Given the description of an element on the screen output the (x, y) to click on. 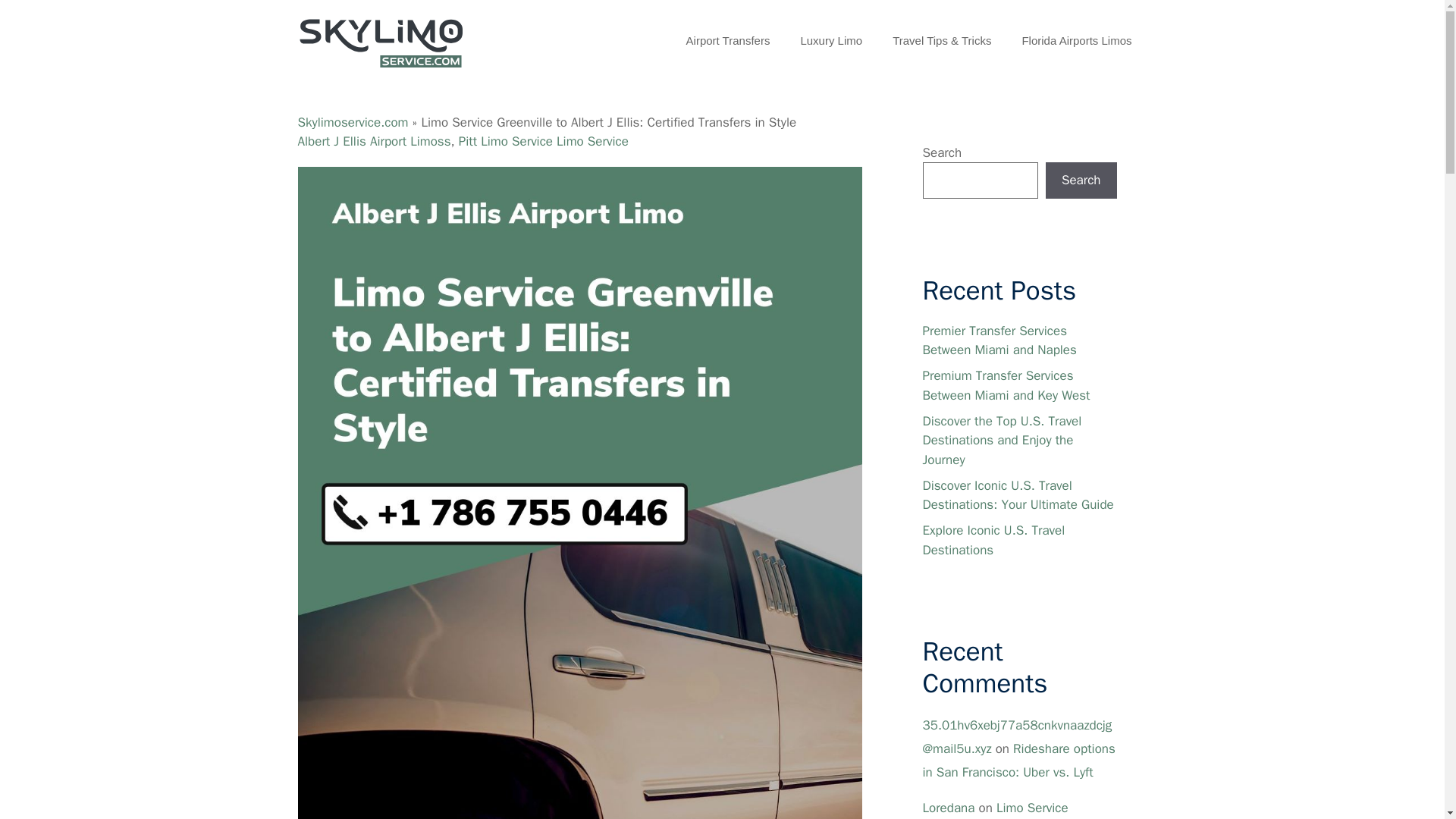
Albert J Ellis Airport Limoss (373, 141)
Explore Iconic U.S. Travel Destinations (992, 539)
Loredana (947, 807)
Rideshare options in San Francisco: Uber vs. Lyft (1018, 760)
Premium Transfer Services Between Miami and Key West (1005, 385)
Premier Transfer Services Between Miami and Naples (998, 340)
Search (1080, 180)
Airport Transfers (728, 40)
Florida Airports Limos (1076, 40)
Skylimoservice.com (352, 122)
Luxury Limo (830, 40)
Pitt Limo Service Limo Service (543, 141)
